Given the description of an element on the screen output the (x, y) to click on. 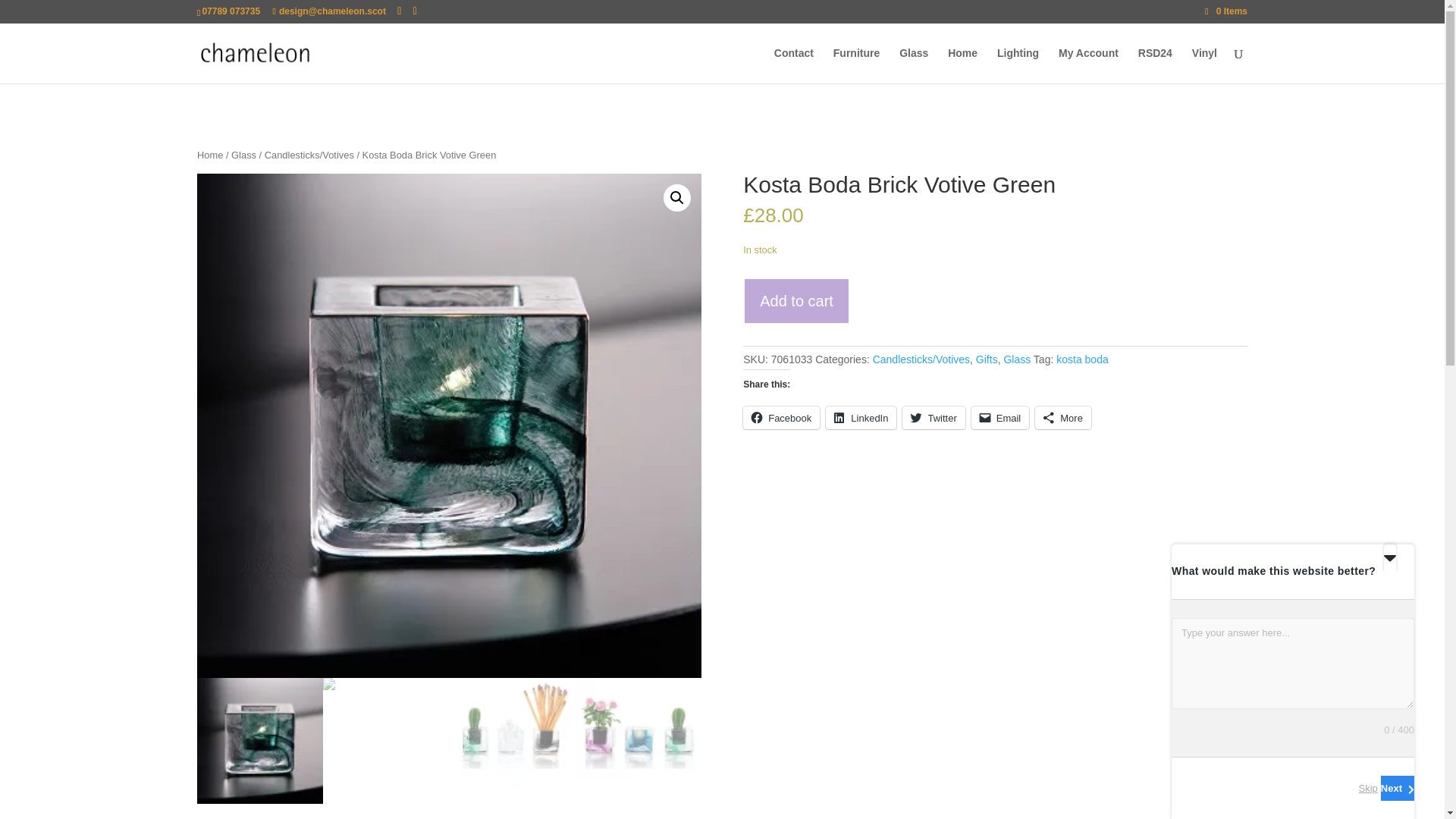
Add to cart (796, 301)
Click to share on Twitter (932, 417)
Lighting (1018, 65)
Gifts (986, 358)
Home (209, 154)
Click to share on LinkedIn (860, 417)
Click to share on Facebook (780, 417)
My Account (1088, 65)
Contact (793, 65)
0 Items (1226, 10)
